Given the description of an element on the screen output the (x, y) to click on. 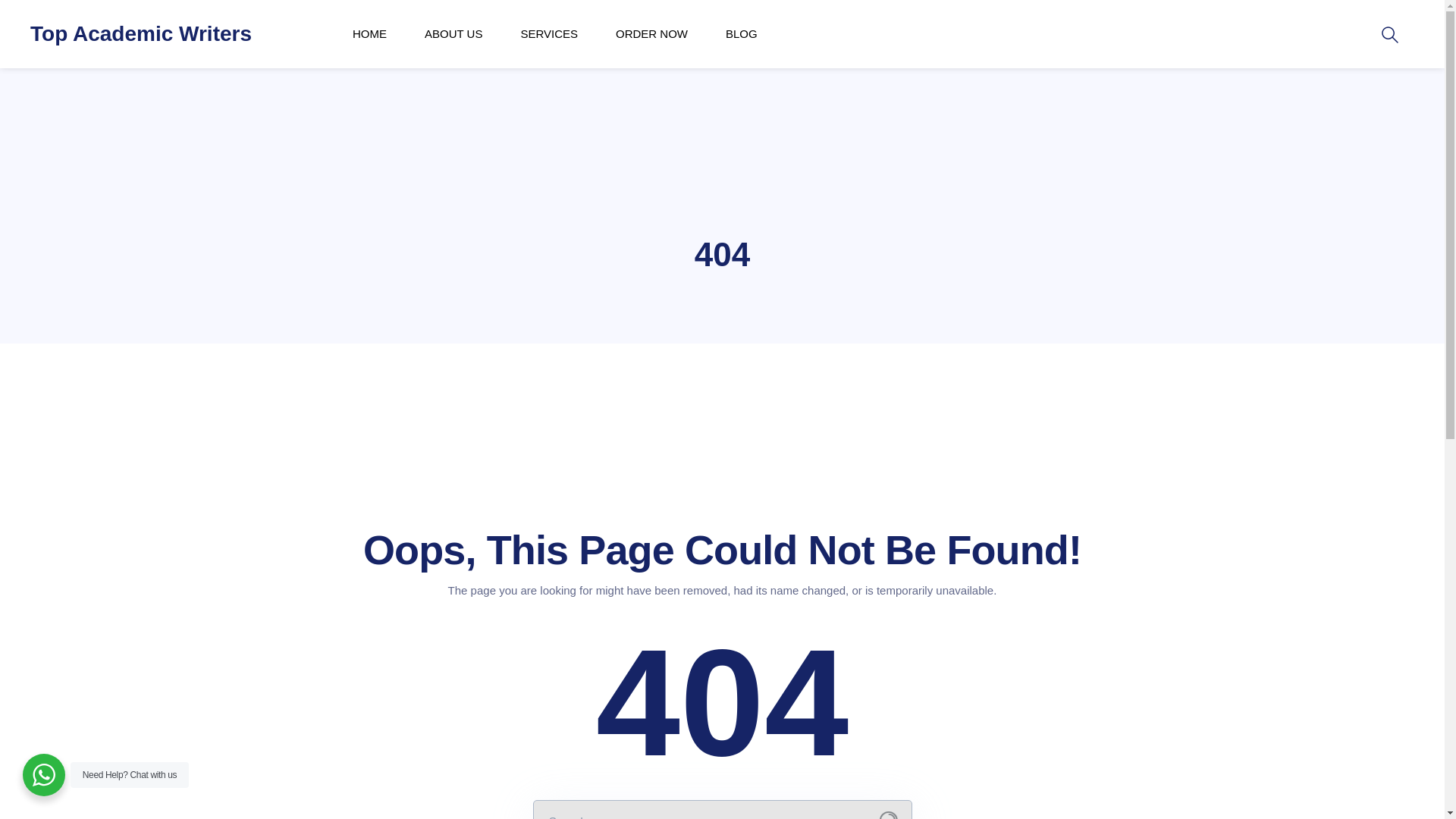
Top Academic Writers (140, 33)
Search (9, 9)
ABOUT US (453, 33)
ORDER NOW (651, 33)
SERVICES (548, 33)
Need Help? Chat with us (44, 774)
HOME (369, 33)
Search... (888, 815)
BLOG (741, 33)
